Given the description of an element on the screen output the (x, y) to click on. 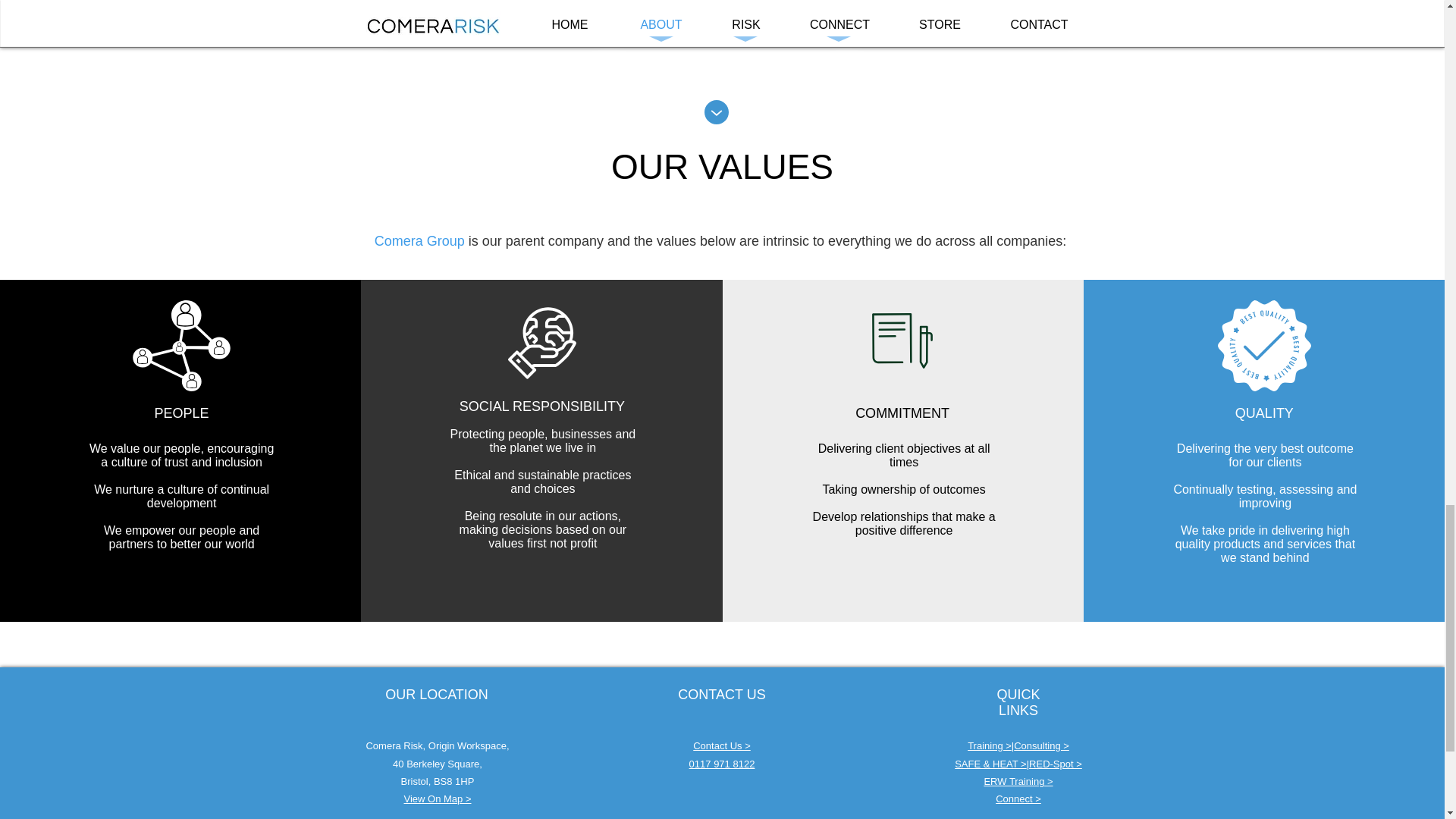
0117 971 8122 (721, 763)
Bristol, BS8 1HP (437, 781)
CONTACT US (721, 694)
Comera Group (419, 240)
Comera Risk, Origin Workspace, 40 Berkeley Square, (436, 754)
